Given the description of an element on the screen output the (x, y) to click on. 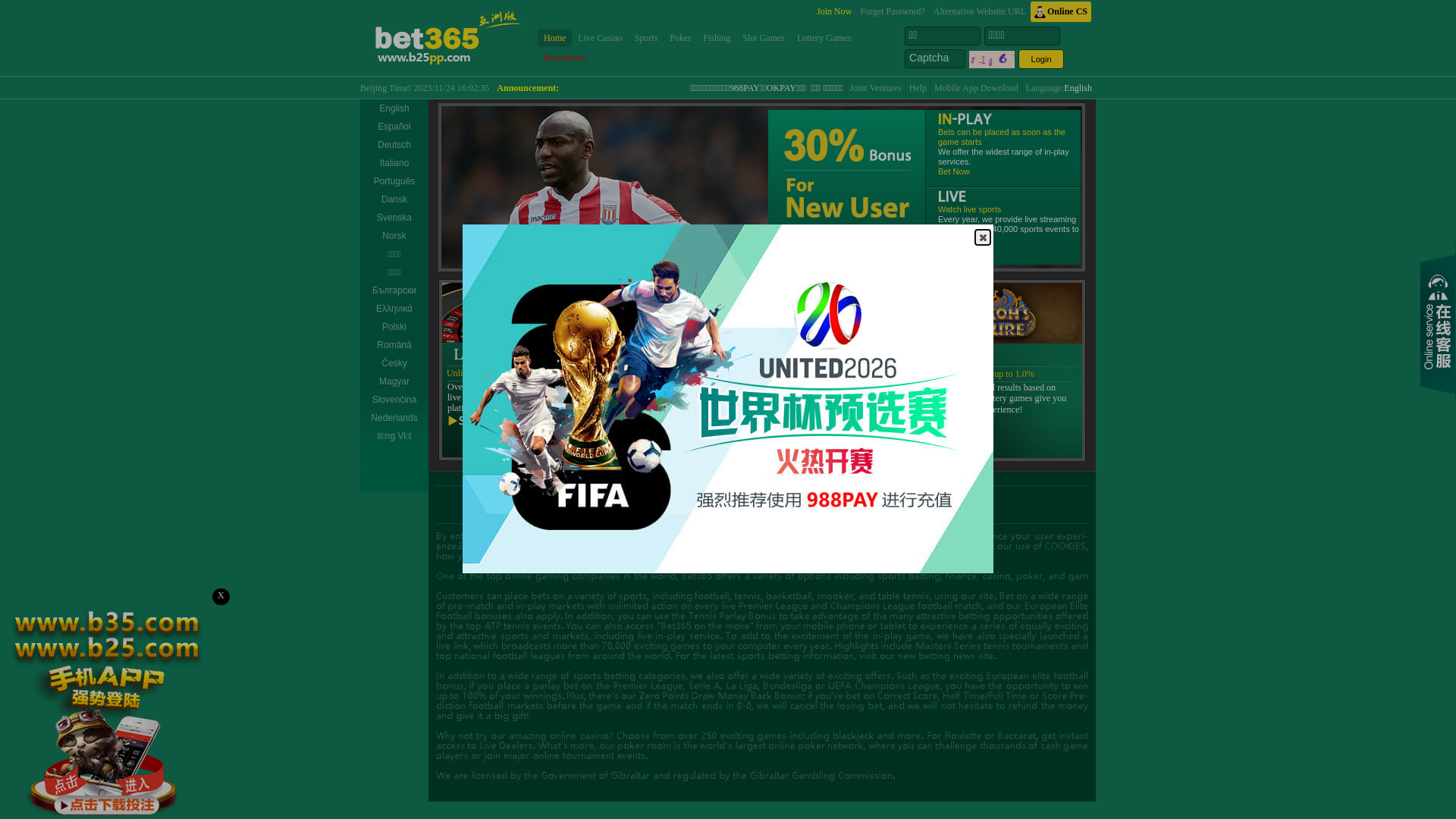
Forget Password? Element type: text (891, 11)
English Element type: text (394, 108)
Polski Element type: text (394, 326)
Close Element type: hover (982, 236)
English Element type: text (1077, 87)
Live Casino Element type: text (599, 37)
Join Now Element type: text (833, 11)
Promotions Element type: text (564, 57)
Norsk Element type: text (394, 235)
Dansk Element type: text (394, 199)
Online CS Element type: text (1060, 11)
Agent Partnership Element type: text (763, 497)
Agent Alliance Element type: text (907, 497)
Sports Element type: text (646, 37)
Mobile App Download Element type: text (976, 87)
Alternative Website URL Element type: text (979, 11)
Joint Ventures Element type: text (875, 87)
Poker Element type: text (679, 37)
FAQs Element type: text (705, 497)
Deutsch Element type: text (394, 144)
Svenska Element type: text (394, 217)
Agent Program Element type: text (838, 497)
Help Element type: text (917, 87)
Slot Games Element type: text (763, 37)
Login Element type: text (1040, 59)
Magyar Element type: text (394, 381)
Instructions Element type: text (659, 497)
About Us Element type: text (606, 497)
Fishing Element type: text (716, 37)
Home Element type: text (554, 37)
Nederlands Element type: text (394, 417)
Italiano Element type: text (394, 162)
Lottery Games Element type: text (823, 37)
